Given the description of an element on the screen output the (x, y) to click on. 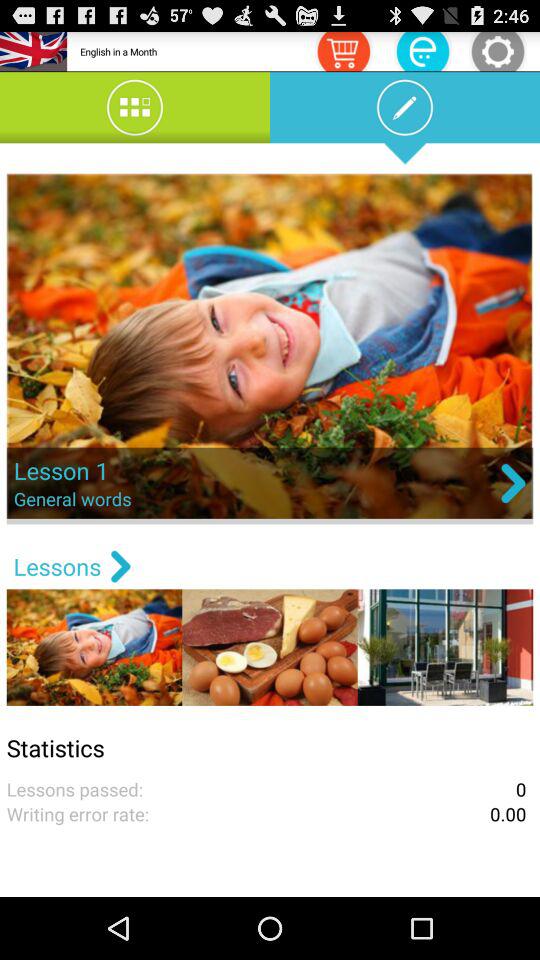
open lesson (269, 348)
